Given the description of an element on the screen output the (x, y) to click on. 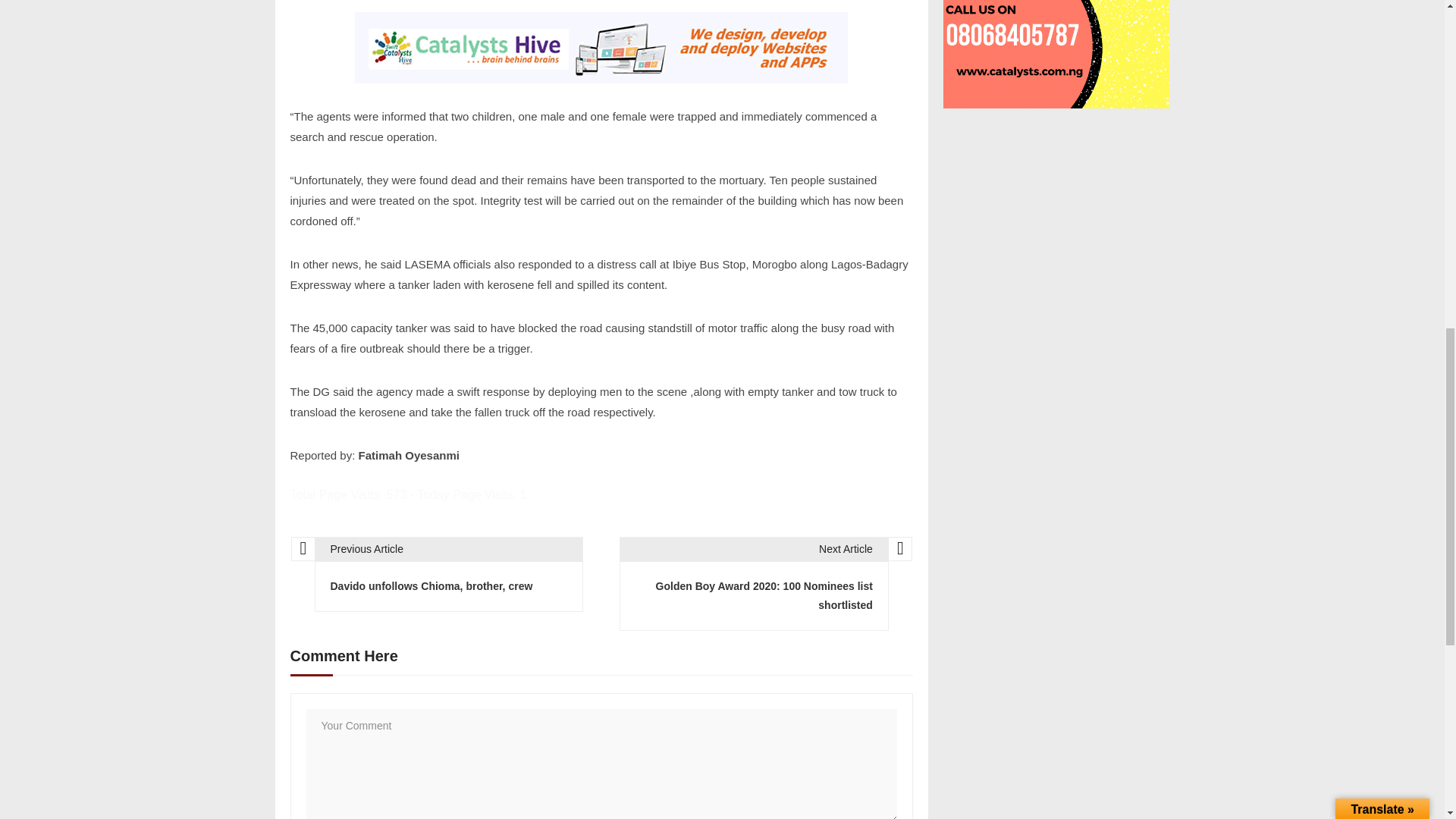
Collapsed building kills 2 children, injures 10 others (1056, 54)
